Given the description of an element on the screen output the (x, y) to click on. 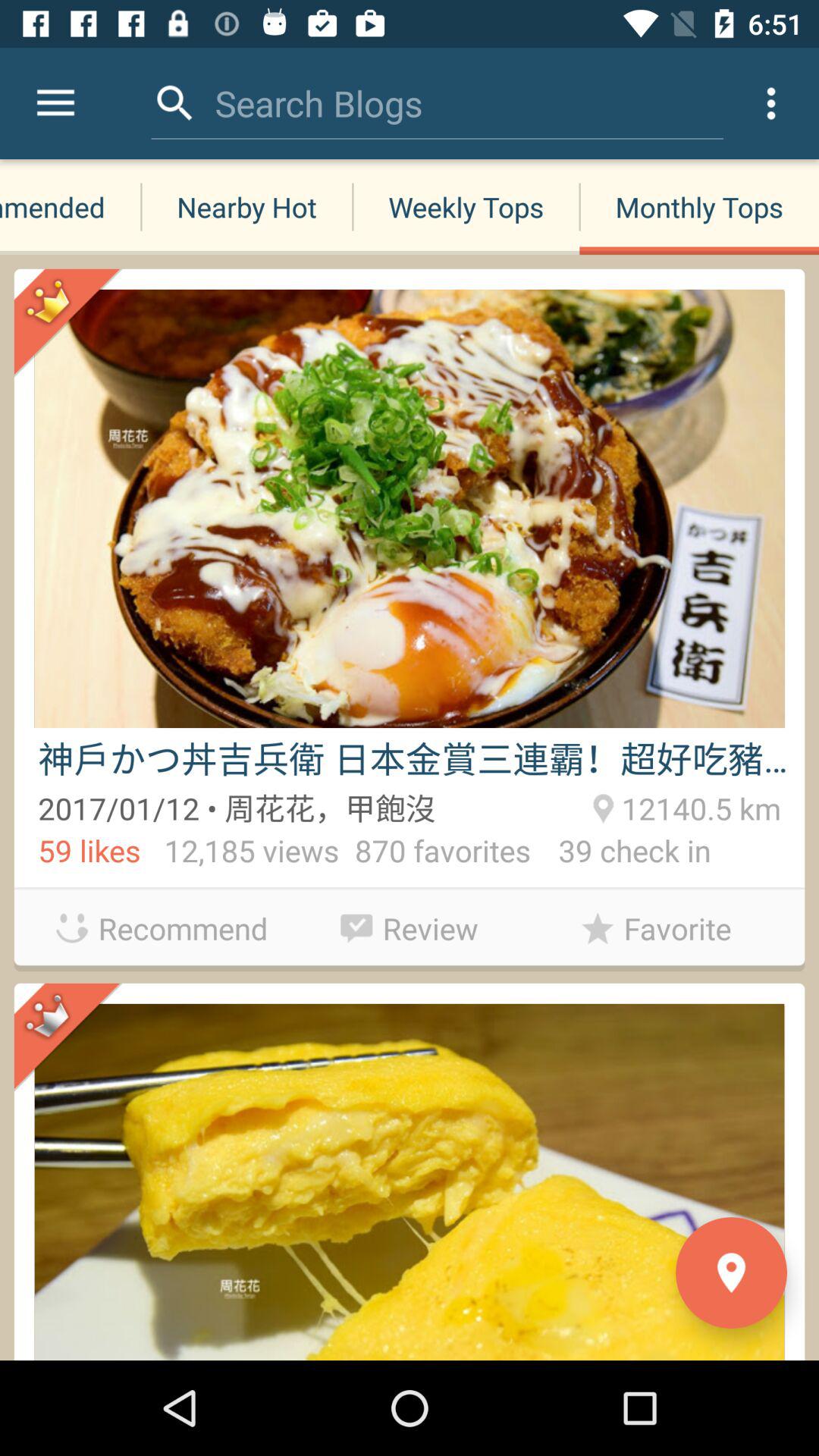
choose icon to the left of the 39 check in (409, 924)
